Given the description of an element on the screen output the (x, y) to click on. 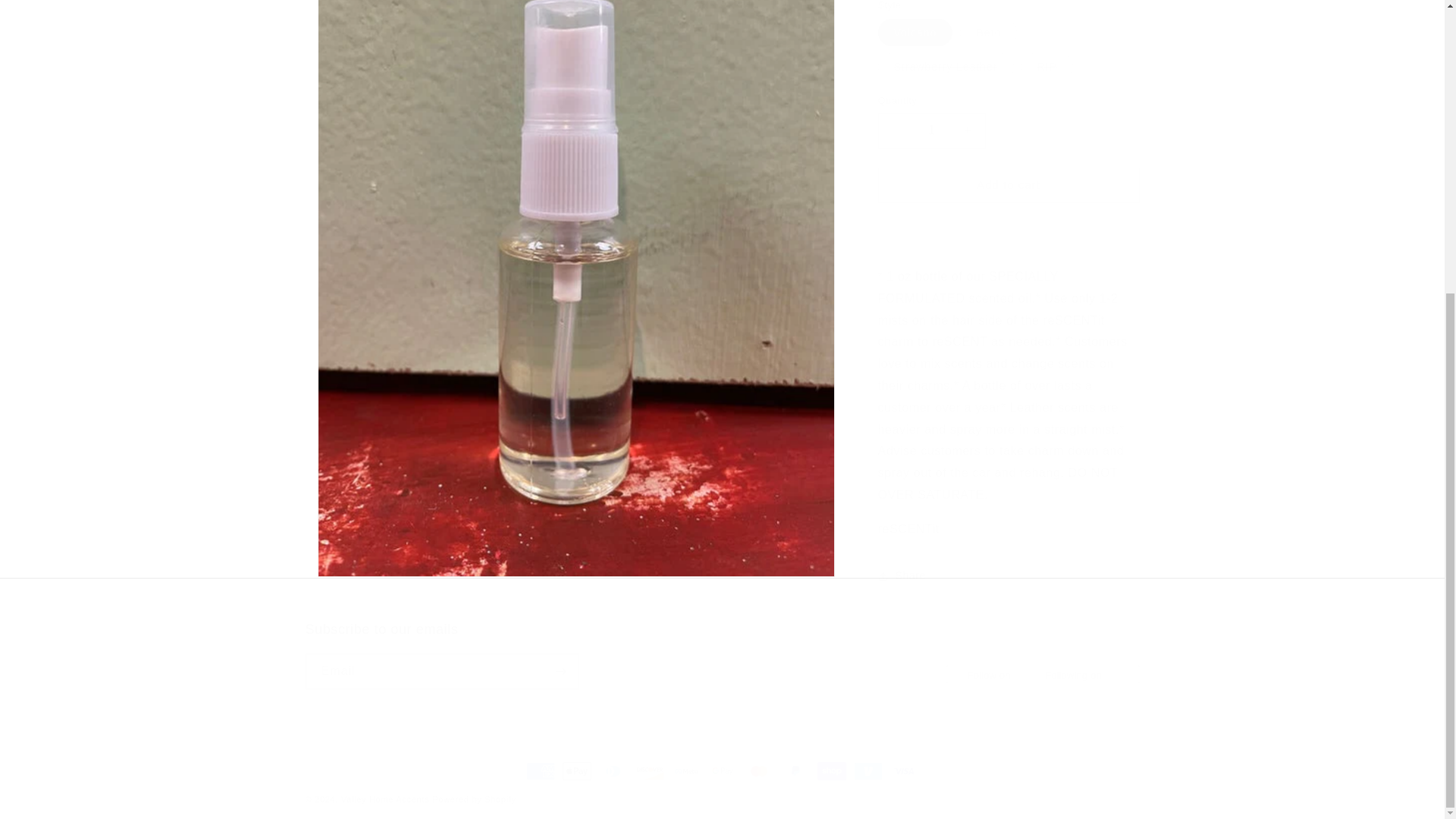
1 (931, 119)
Volcano (721, 654)
